Given the description of an element on the screen output the (x, y) to click on. 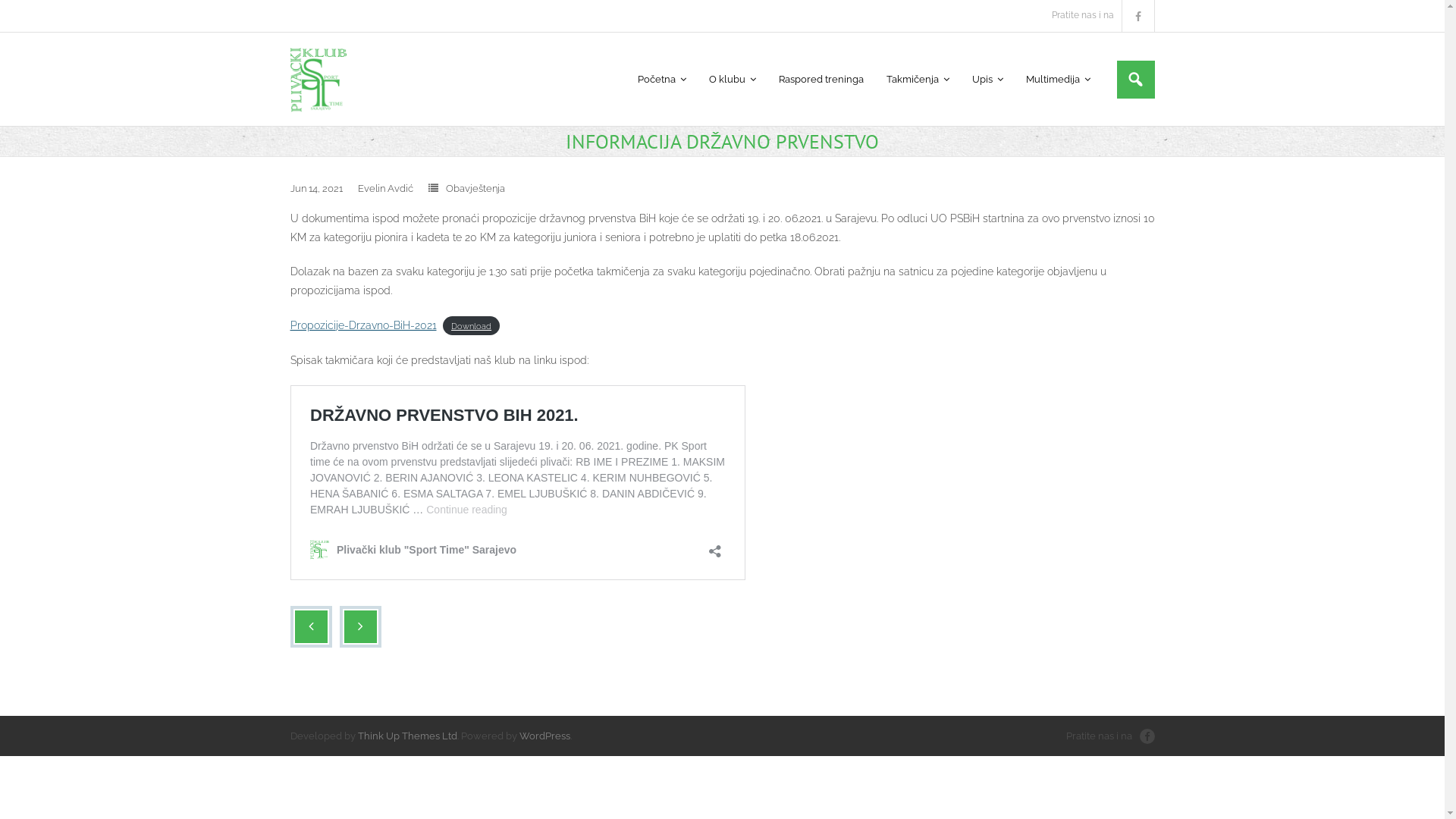
Download Element type: text (470, 325)
WordPress Element type: text (543, 735)
Propozicije-Drzavno-BiH-2021 Element type: text (362, 325)
O klubu Element type: text (732, 78)
Upis Element type: text (986, 78)
Jun 14, 2021 Element type: text (315, 188)
Raspored treninga Element type: text (821, 78)
Search Element type: text (27, 14)
Think Up Themes Ltd Element type: text (407, 735)
Multimedija Element type: text (1057, 78)
